Given the description of an element on the screen output the (x, y) to click on. 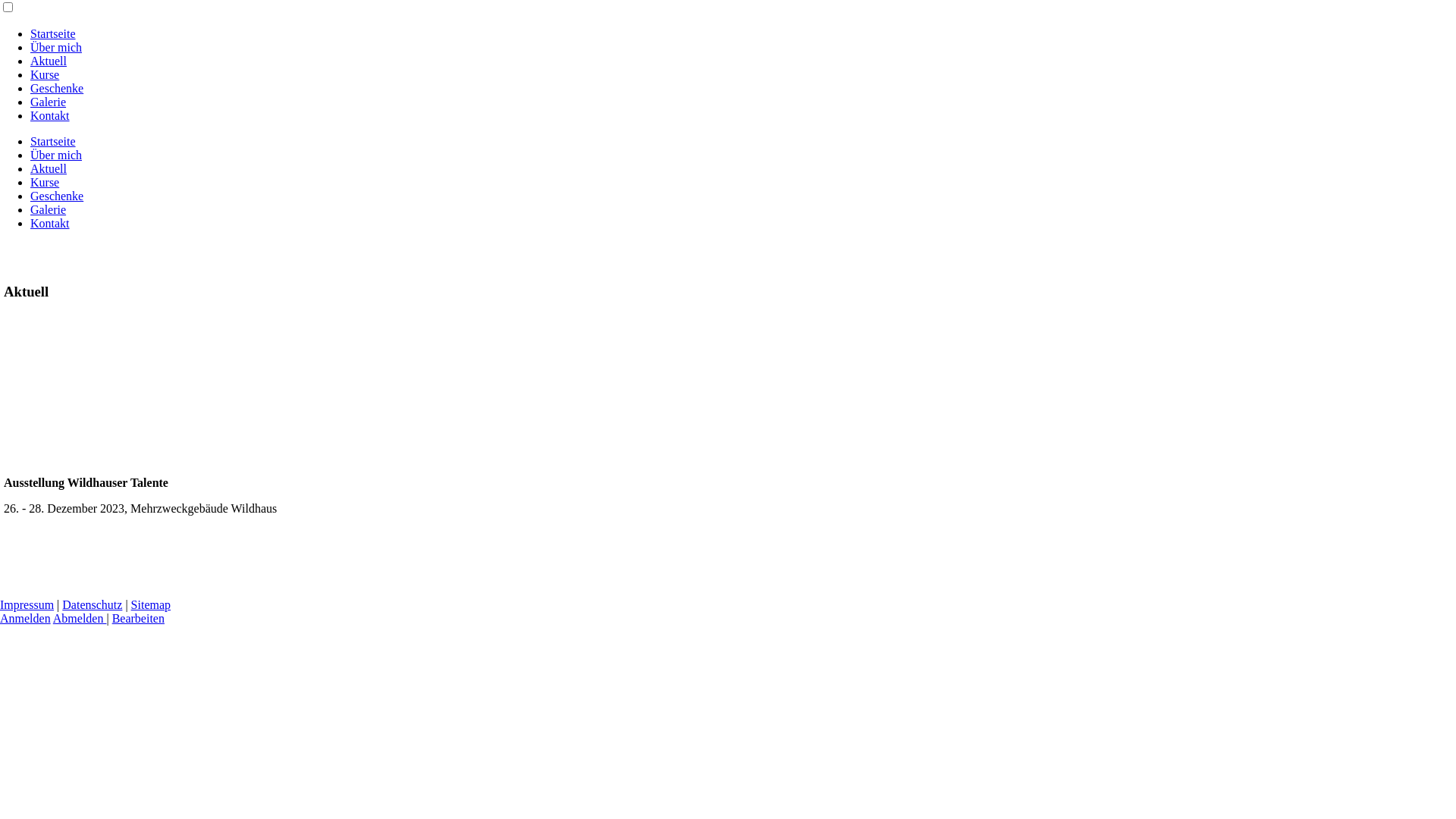
Sitemap Element type: text (150, 604)
Datenschutz Element type: text (92, 604)
Impressum Element type: text (26, 604)
Geschenke Element type: text (56, 87)
Aktuell Element type: text (48, 168)
Galerie Element type: text (47, 209)
Kurse Element type: text (44, 74)
Startseite Element type: text (52, 140)
Kontakt Element type: text (49, 115)
Galerie Element type: text (47, 101)
Abmelden Element type: text (79, 617)
Kontakt Element type: text (49, 222)
Anmelden Element type: text (25, 617)
Bearbeiten Element type: text (138, 617)
Startseite Element type: text (52, 33)
Kurse Element type: text (44, 181)
Geschenke Element type: text (56, 195)
Aktuell Element type: text (48, 60)
